Given the description of an element on the screen output the (x, y) to click on. 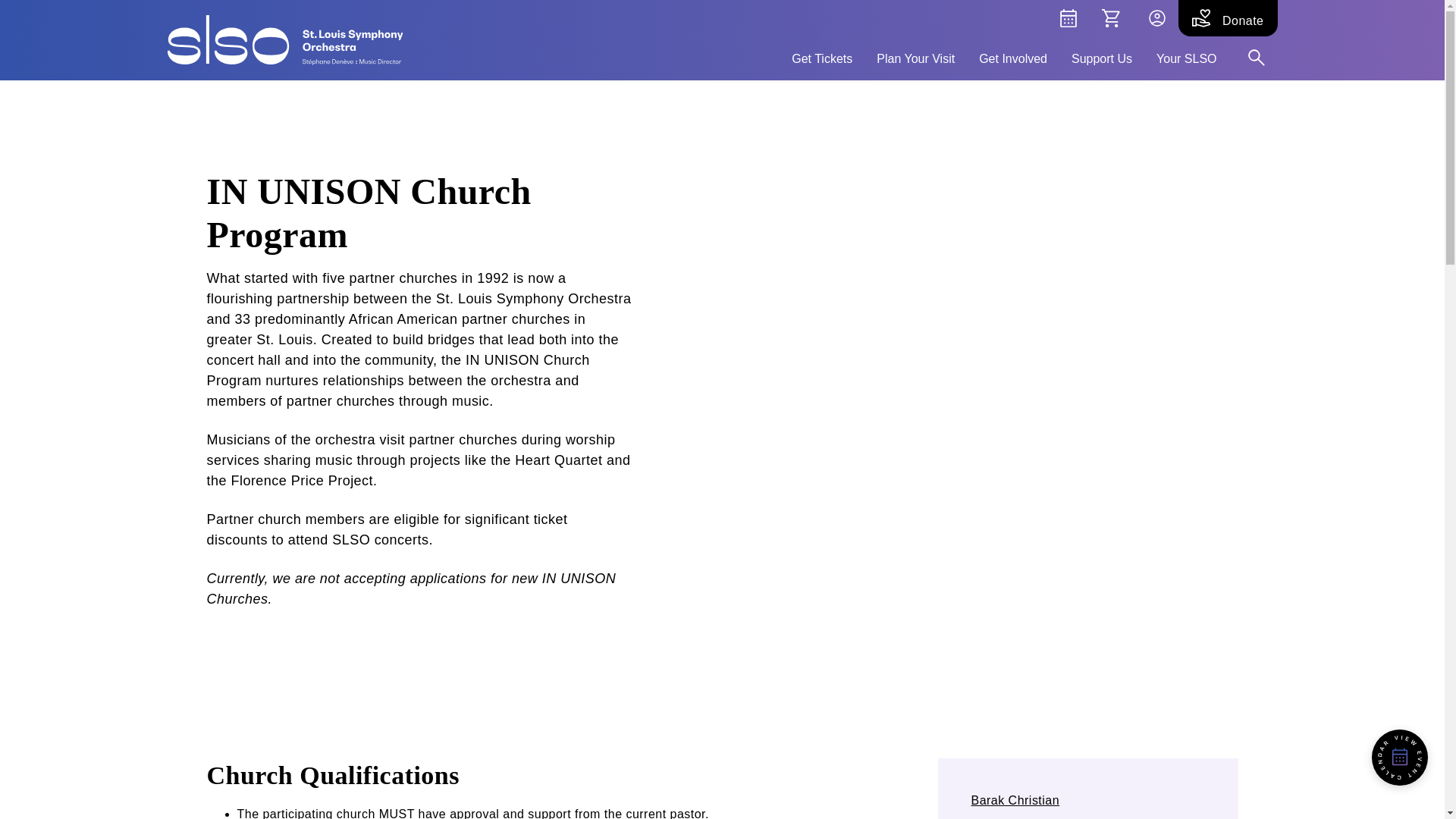
Get Tickets (821, 56)
Account (1156, 18)
View Events (1067, 18)
Get Involved (1012, 56)
View Cart (1110, 18)
Support Us (1101, 56)
View Events (1399, 757)
Plan Your Visit (915, 56)
